Given the description of an element on the screen output the (x, y) to click on. 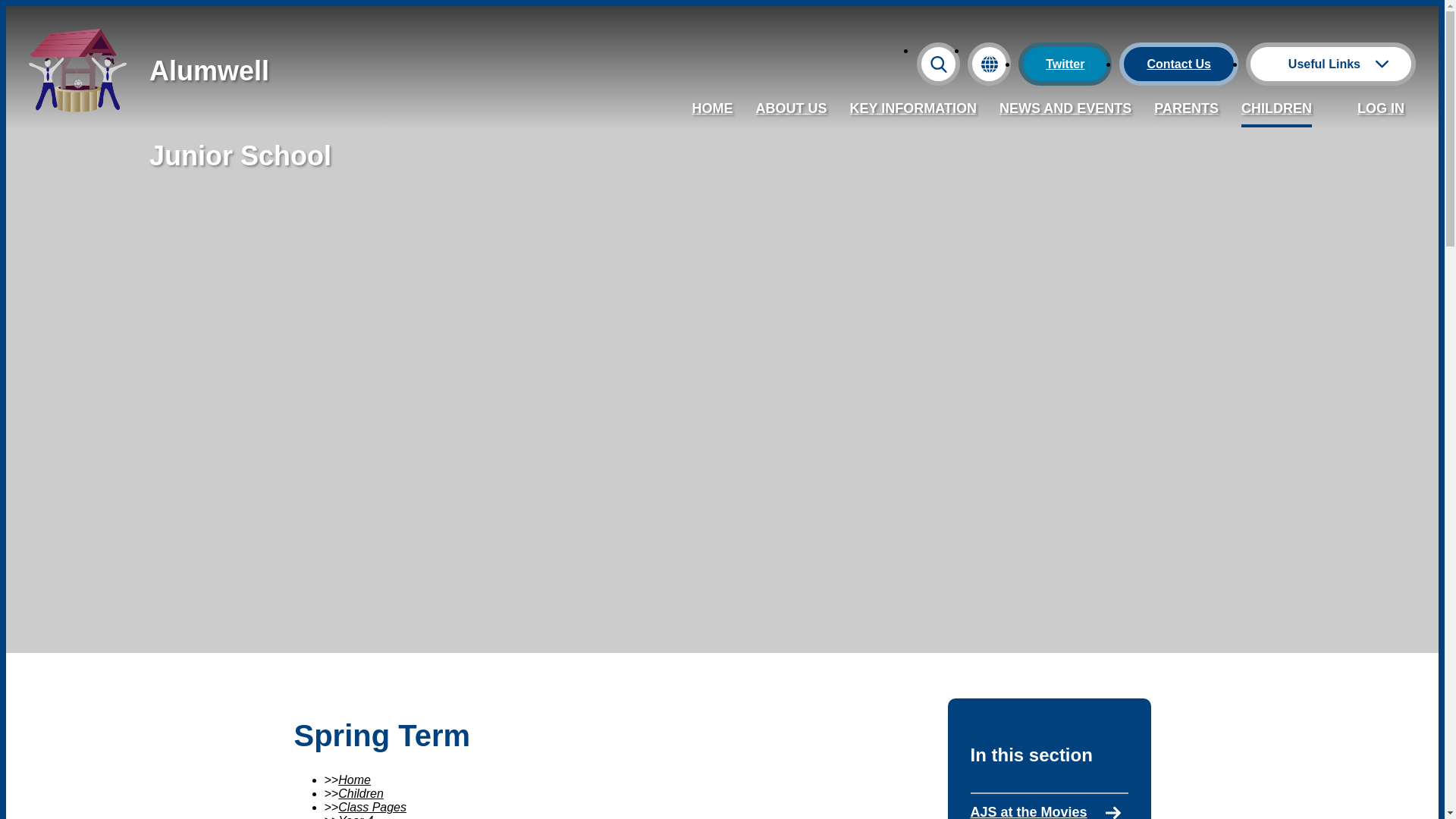
Twitter (1064, 63)
HOME (713, 110)
ABOUT US (791, 110)
Home Page (77, 113)
KEY INFORMATION (913, 110)
Contact Us (1178, 63)
